Given the description of an element on the screen output the (x, y) to click on. 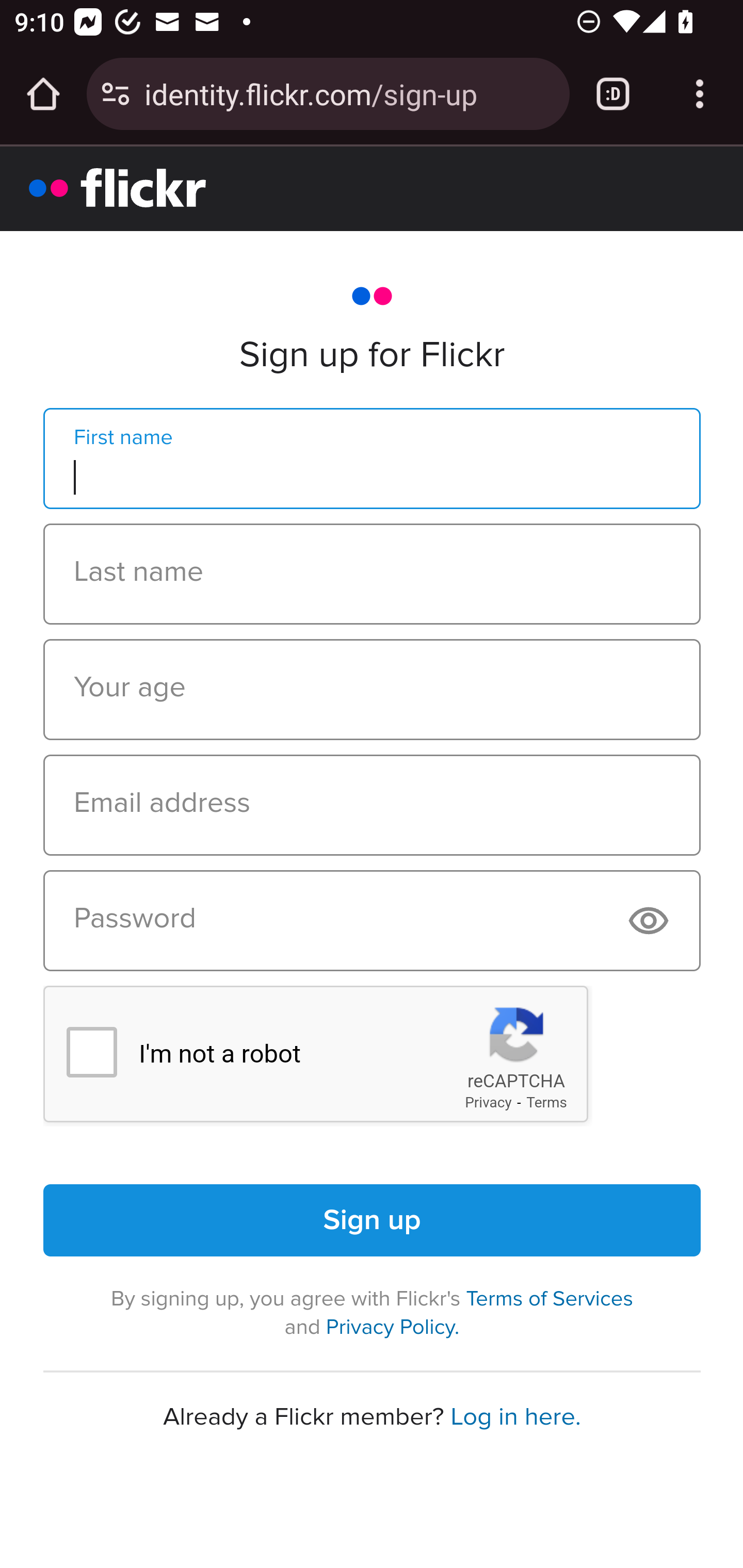
Open the home page (43, 93)
Connection is secure (115, 93)
Switch or close tabs (612, 93)
Customize and control Google Chrome (699, 93)
identity.flickr.com/sign-up (349, 92)
Flickr Logo (117, 186)
I'm not a robot (91, 1051)
Privacy (488, 1102)
Terms (546, 1102)
Sign up (372, 1219)
Terms of Services (549, 1298)
Privacy Policy. (392, 1326)
Log in here. (515, 1416)
